Given the description of an element on the screen output the (x, y) to click on. 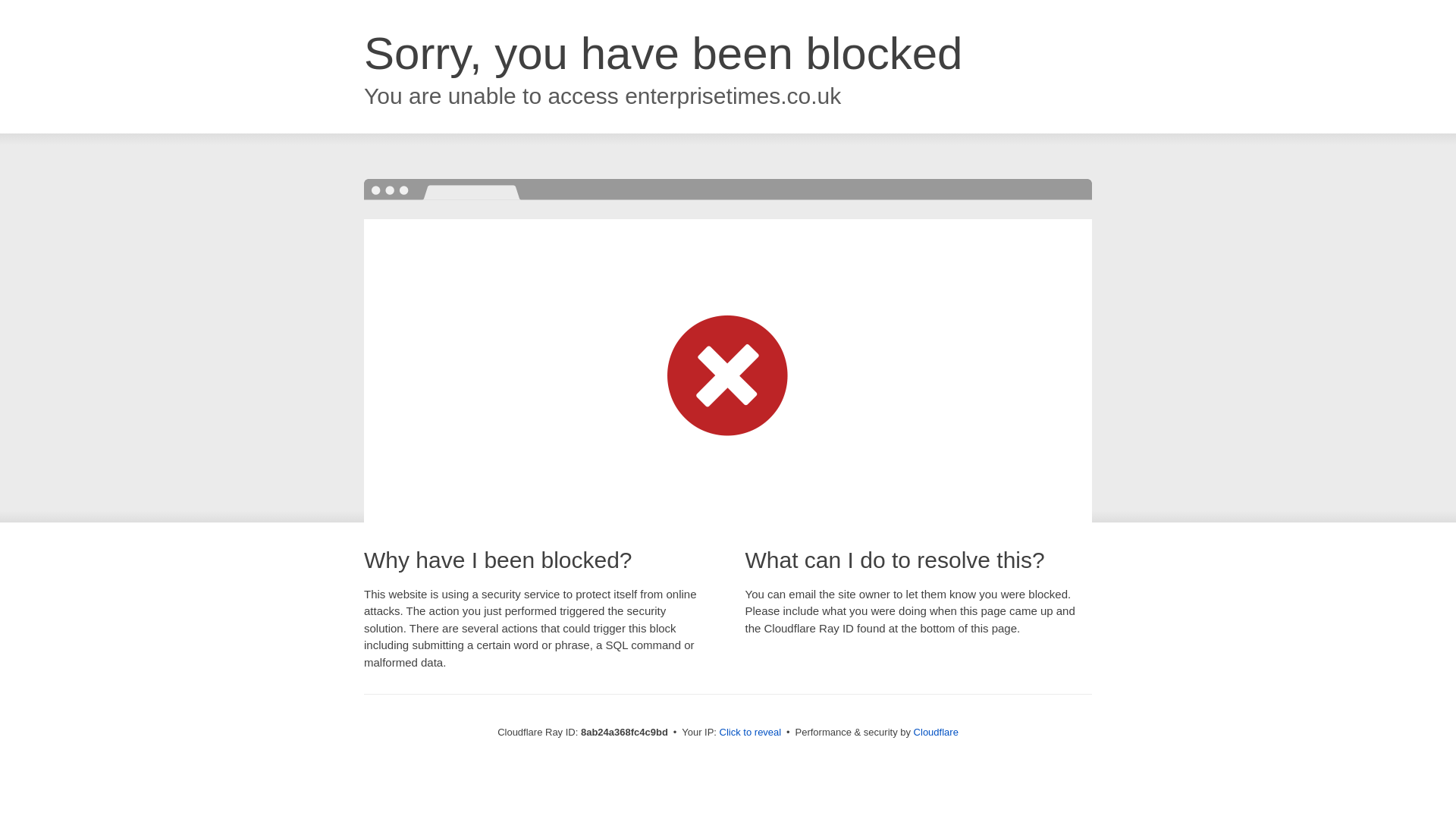
Cloudflare (936, 731)
Click to reveal (750, 732)
